Given the description of an element on the screen output the (x, y) to click on. 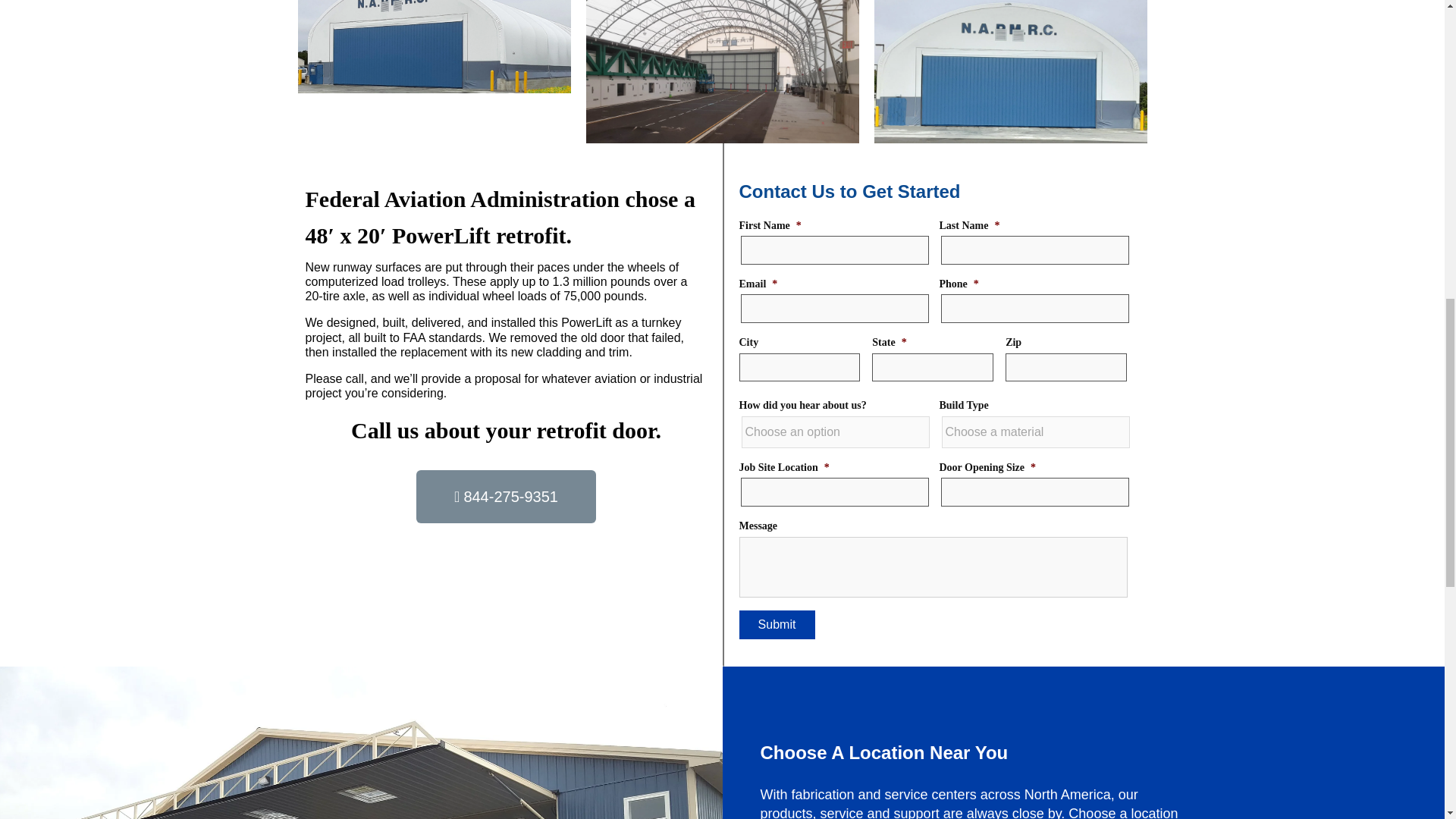
Submit (775, 624)
Submit (775, 624)
844-275-9351 (505, 496)
